Given the description of an element on the screen output the (x, y) to click on. 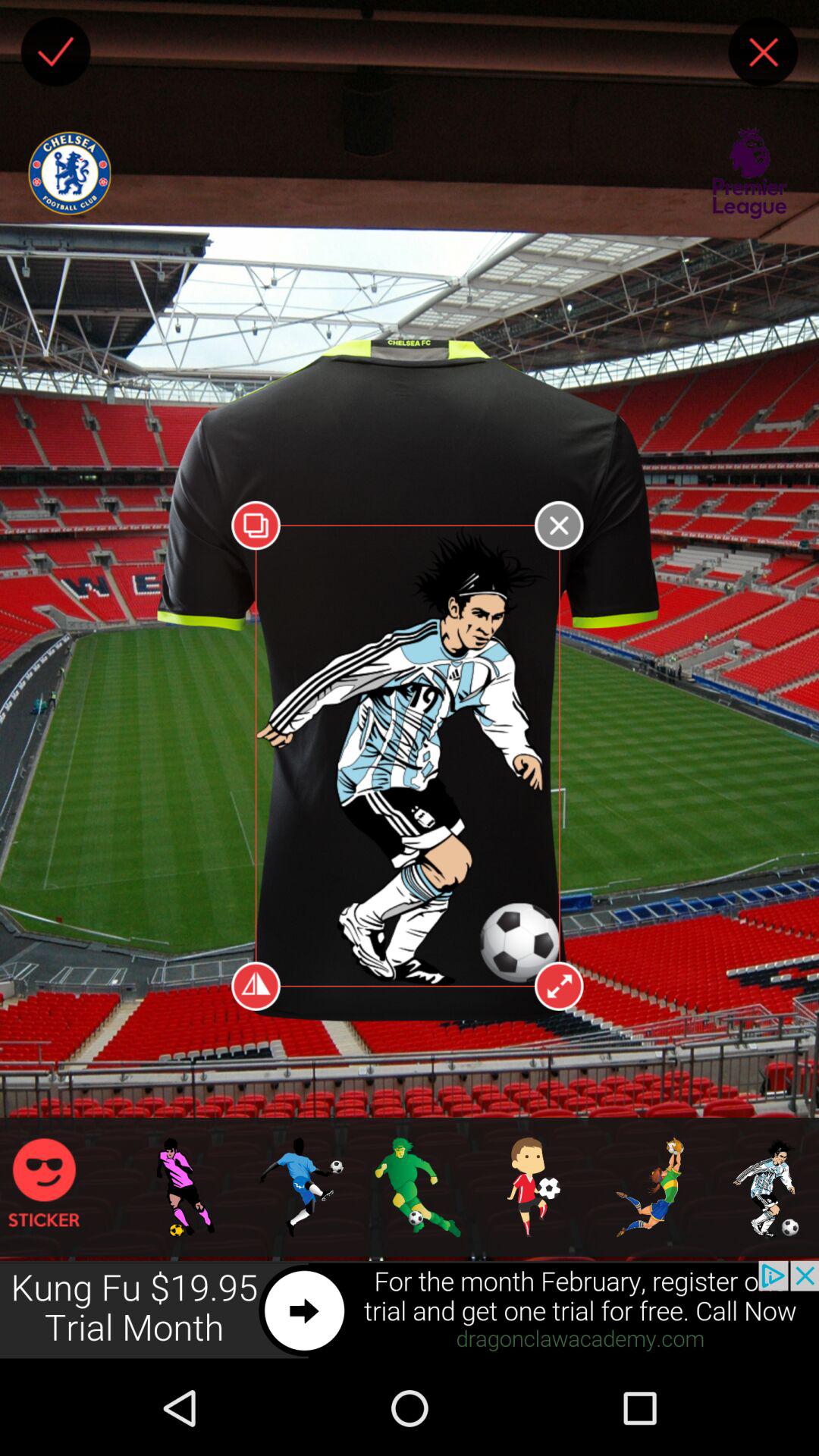
open advertisement (409, 1310)
